Given the description of an element on the screen output the (x, y) to click on. 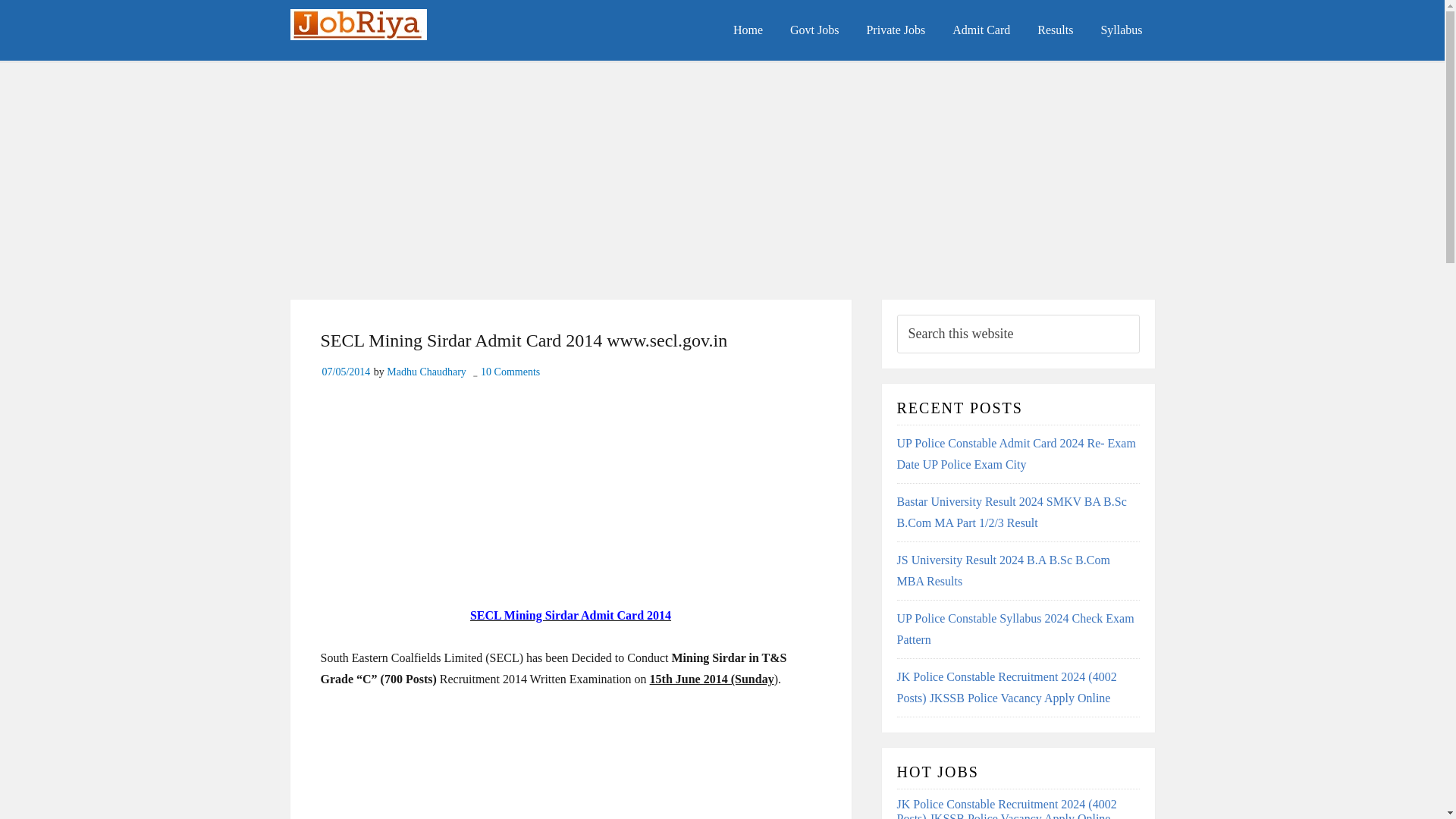
Syllabus (1120, 30)
Madhu Chaudhary (426, 371)
Results (1054, 30)
Govt Jobs (813, 30)
10 Comments (510, 371)
Admit Card (981, 30)
Private Jobs (895, 30)
JOBRIYA (402, 31)
